Given the description of an element on the screen output the (x, y) to click on. 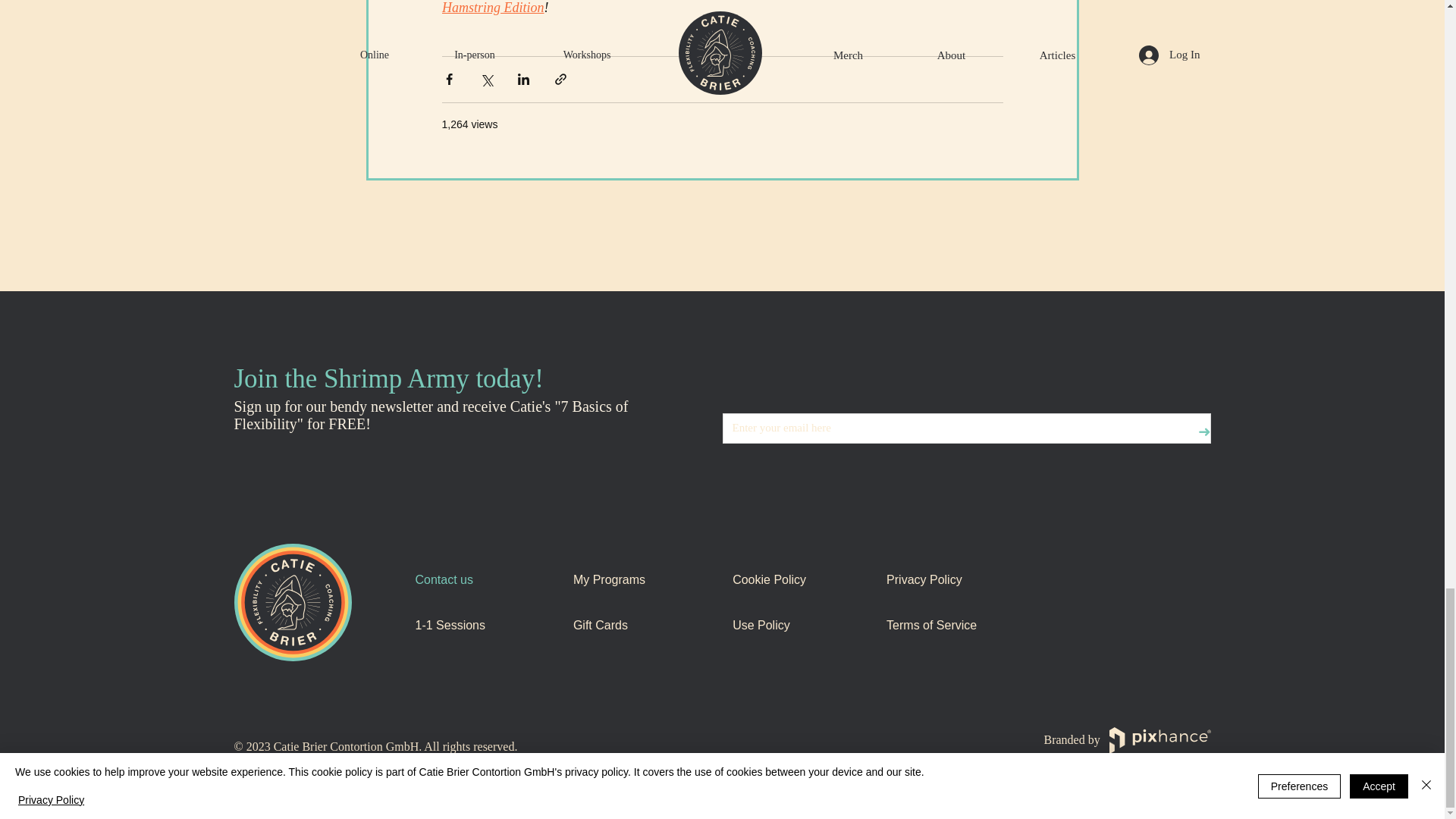
Contact us (485, 580)
1-1 Sessions (485, 625)
Use Policy (801, 625)
Cookie Policy (801, 580)
My Programs (645, 580)
Contortion Strong Mini: Hamstring Edition (700, 7)
Terms of Service (957, 625)
Gift Cards (645, 625)
Privacy Policy (957, 580)
